Given the description of an element on the screen output the (x, y) to click on. 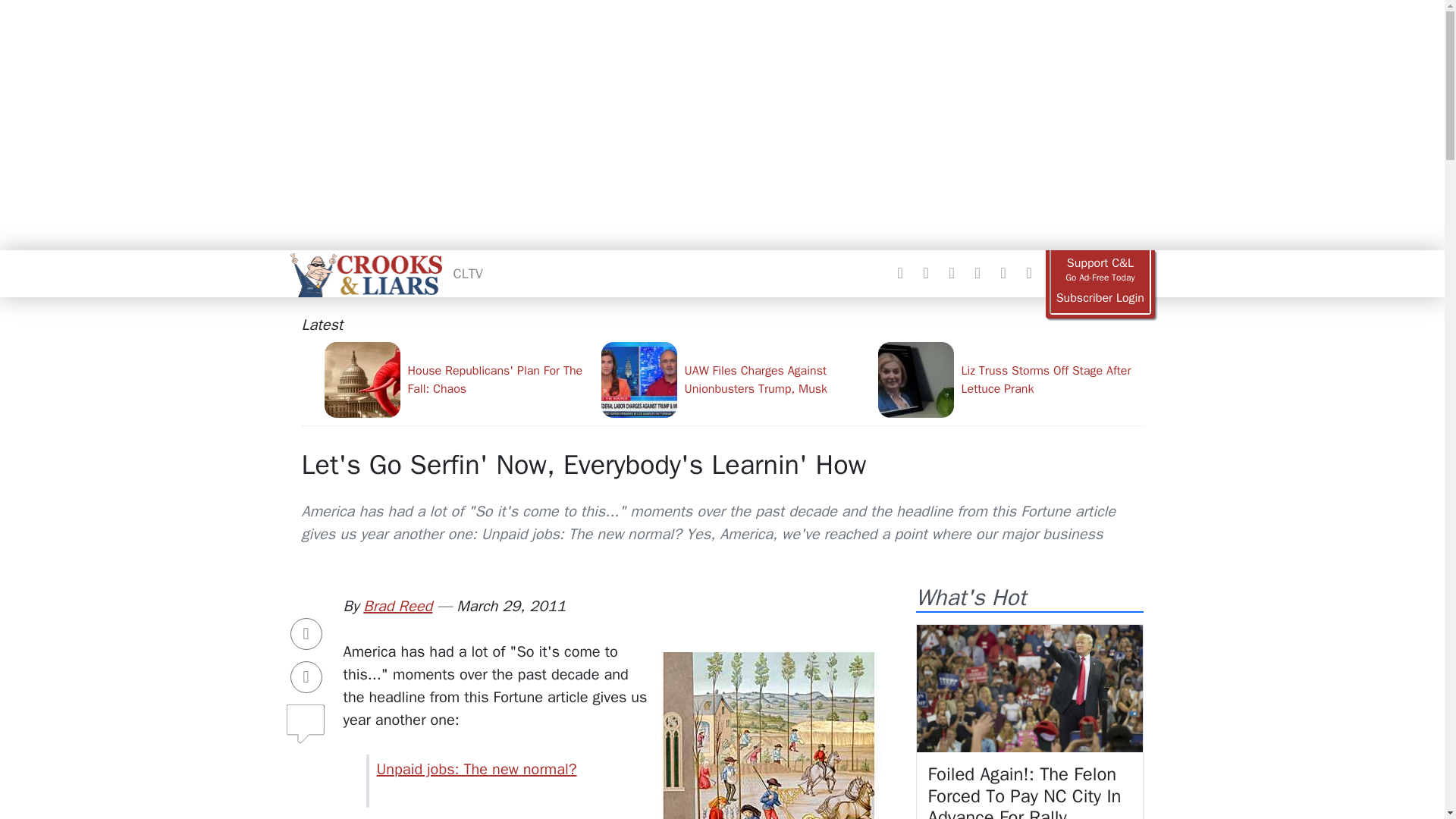
serfin.jpg (766, 779)
CLTV (467, 273)
Comments (306, 717)
Share on Twitter (306, 676)
Unpaid jobs: The new normal? (475, 769)
Share on Facebook (306, 634)
UAW Files Charges Against Unionbusters Trump, Musk (732, 379)
Subscriber Login (1099, 298)
Go ad free today! (1099, 270)
House Republicans' Plan For The Fall: Chaos (456, 379)
